Given the description of an element on the screen output the (x, y) to click on. 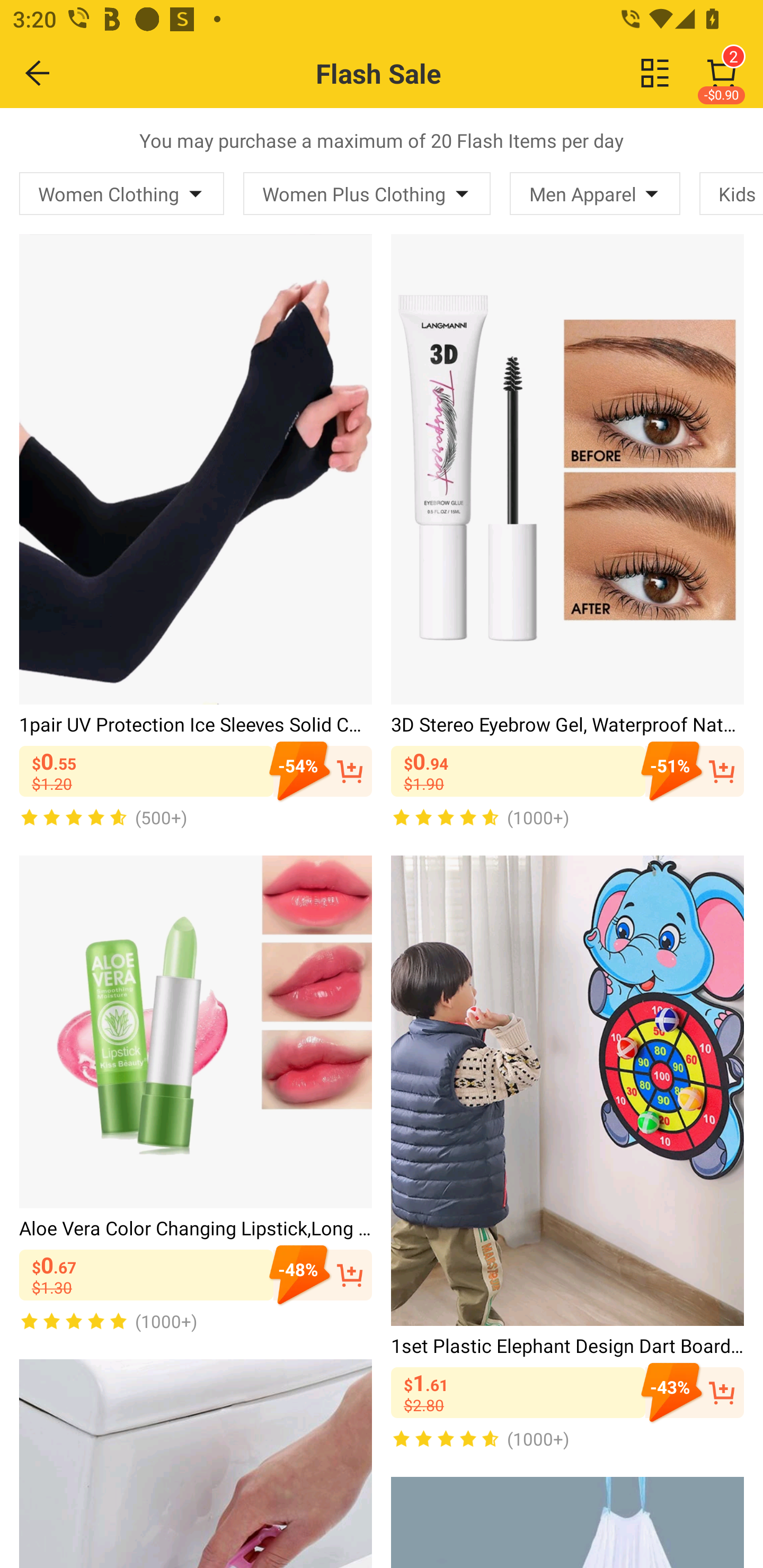
Flash Sale change view 2 -$0.90 (419, 72)
2 -$0.90 (721, 72)
change view (654, 72)
BACK (38, 72)
Women Clothing (121, 193)
Women Plus Clothing (366, 193)
Men Apparel (594, 193)
